Given the description of an element on the screen output the (x, y) to click on. 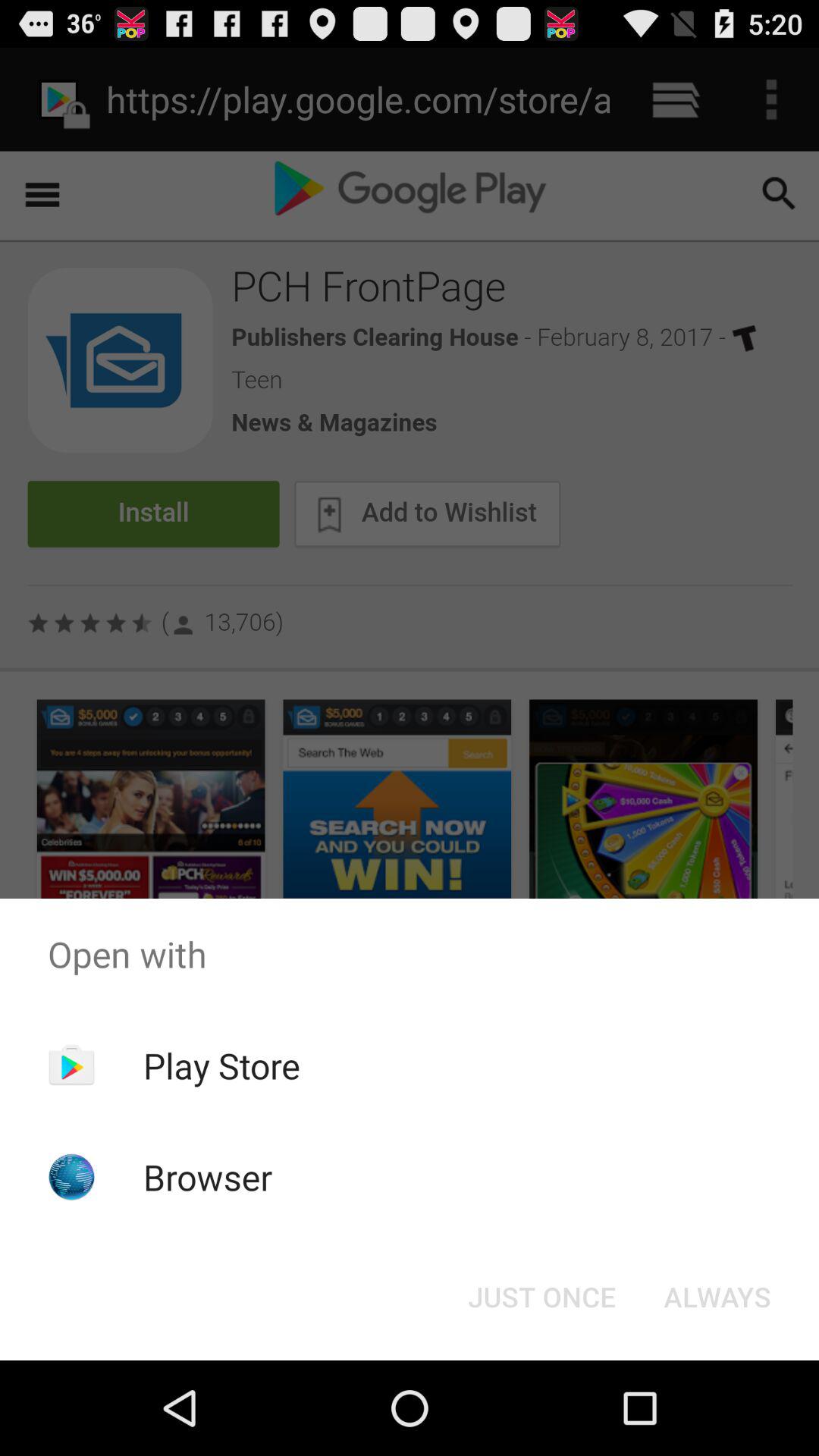
turn off icon below the play store item (207, 1176)
